Given the description of an element on the screen output the (x, y) to click on. 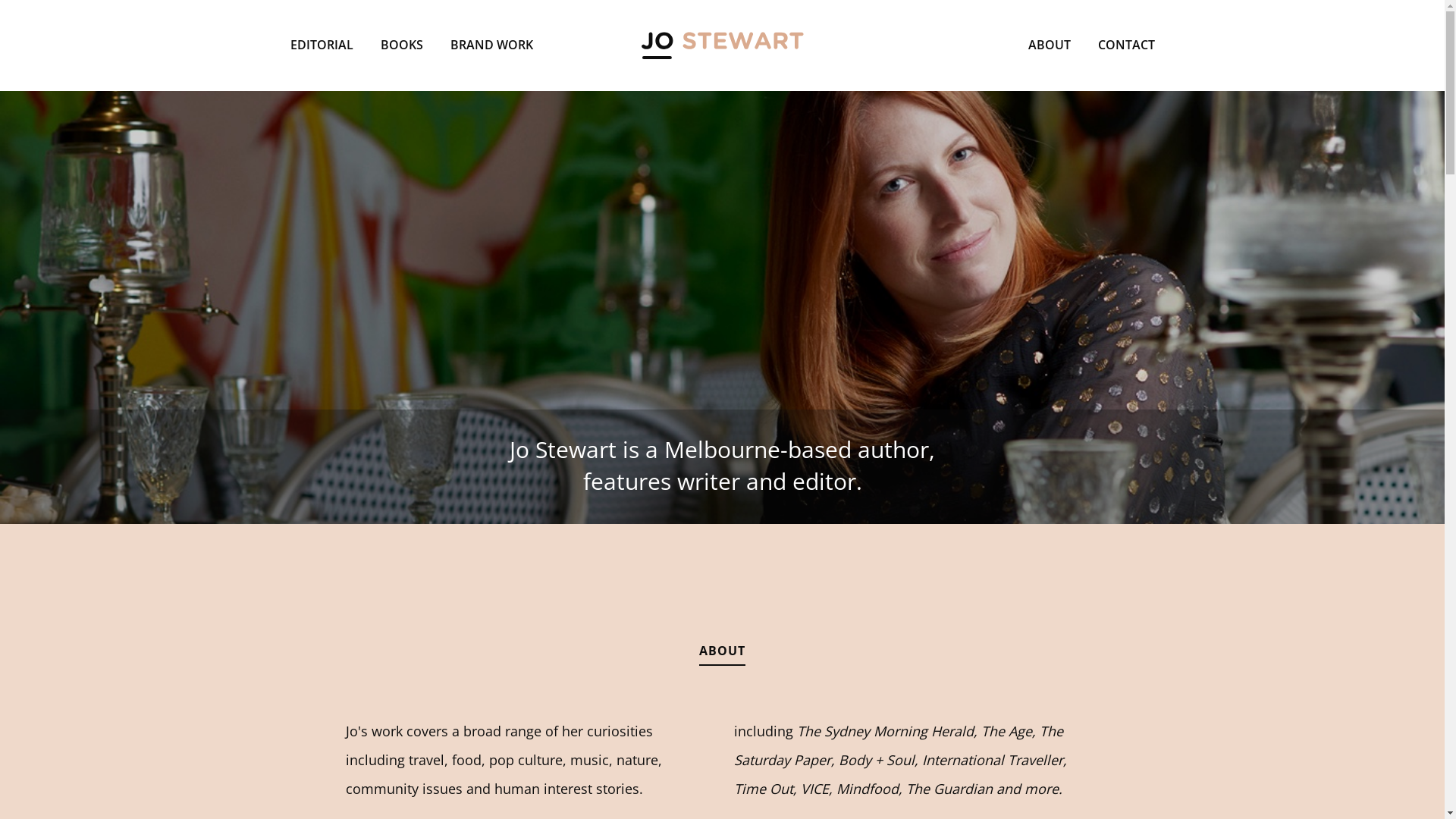
BOOKS Element type: text (401, 44)
BRAND WORK Element type: text (491, 44)
EDITORIAL Element type: text (320, 44)
CONTACT Element type: text (1126, 44)
ABOUT Element type: text (1049, 44)
